Given the description of an element on the screen output the (x, y) to click on. 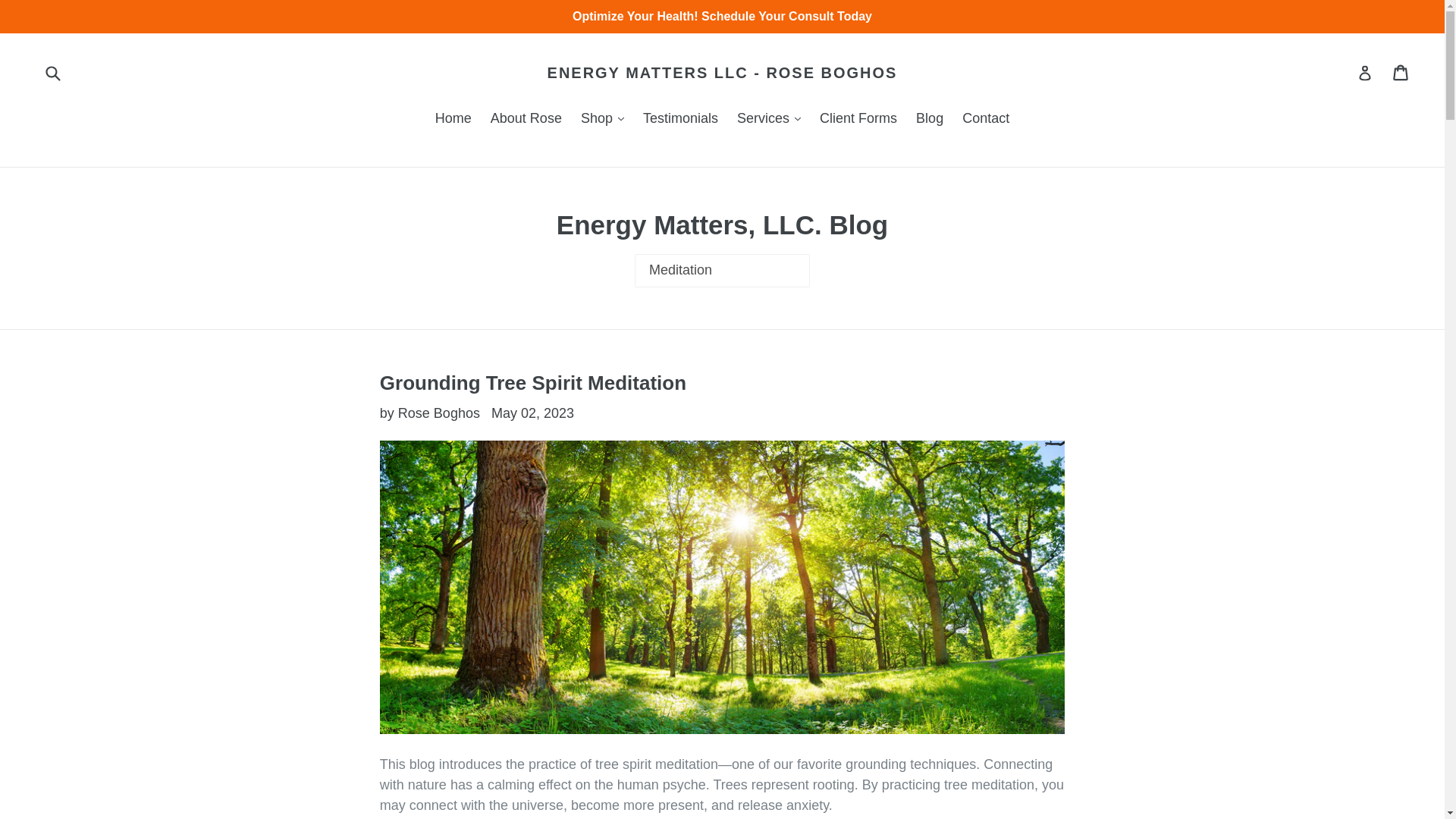
ENERGY MATTERS LLC - ROSE BOGHOS (722, 72)
About Rose (526, 119)
Home (453, 119)
